Given the description of an element on the screen output the (x, y) to click on. 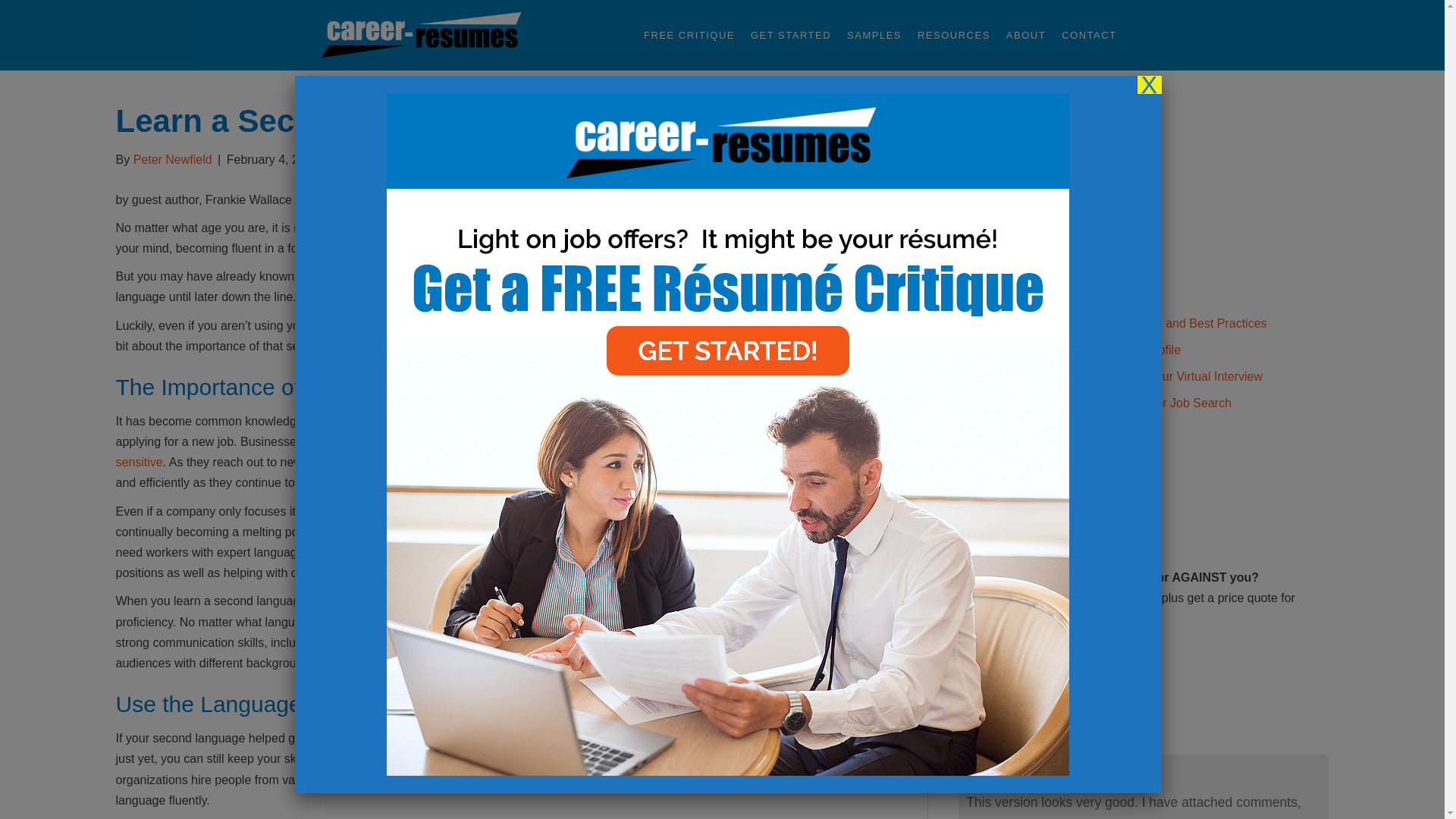
find a job either at home or internationally (584, 247)
diverse cultures (360, 531)
logo-main (420, 35)
GET STARTED (790, 35)
SAMPLES (874, 35)
0 (340, 159)
RESOURCES (953, 35)
culturally sensitive (495, 451)
ABOUT (1025, 35)
FREE CRITIQUE (689, 35)
CONTACT (1089, 35)
Peter Newfield (172, 159)
accountants (510, 642)
